Given the description of an element on the screen output the (x, y) to click on. 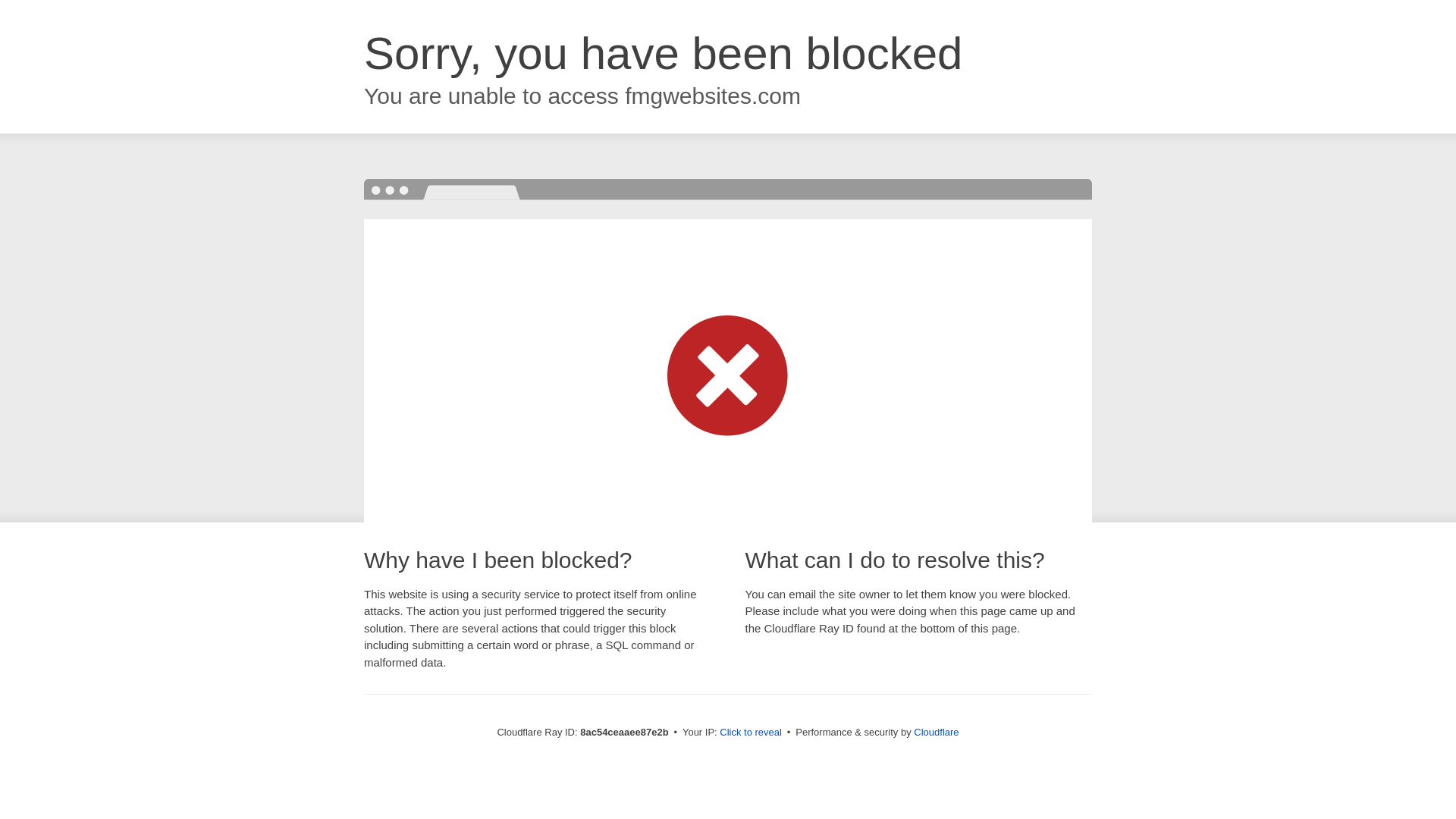
Cloudflare (936, 731)
Click to reveal (750, 732)
